Given the description of an element on the screen output the (x, y) to click on. 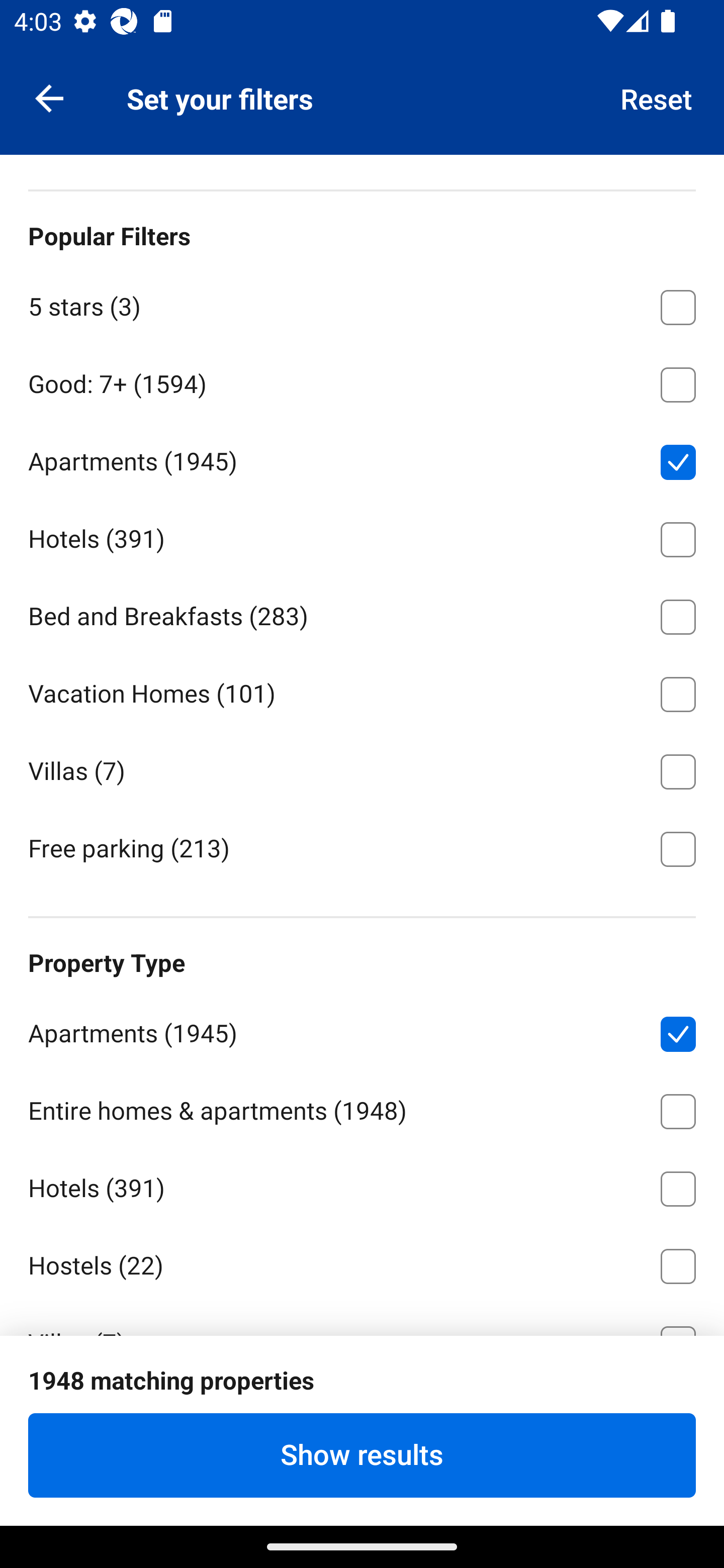
Navigate up (49, 97)
Reset (656, 97)
5 stars ⁦(3) (361, 303)
Good: 7+ ⁦(1594) (361, 381)
Apartments ⁦(1945) (361, 458)
Hotels ⁦(391) (361, 536)
Bed and Breakfasts ⁦(283) (361, 613)
Vacation Homes ⁦(101) (361, 690)
Villas ⁦(7) (361, 768)
Free parking ⁦(213) (361, 847)
Apartments ⁦(1945) (361, 1030)
Entire homes & apartments ⁦(1948) (361, 1107)
Hotels ⁦(391) (361, 1185)
Hostels ⁦(22) (361, 1262)
Show results (361, 1454)
